Given the description of an element on the screen output the (x, y) to click on. 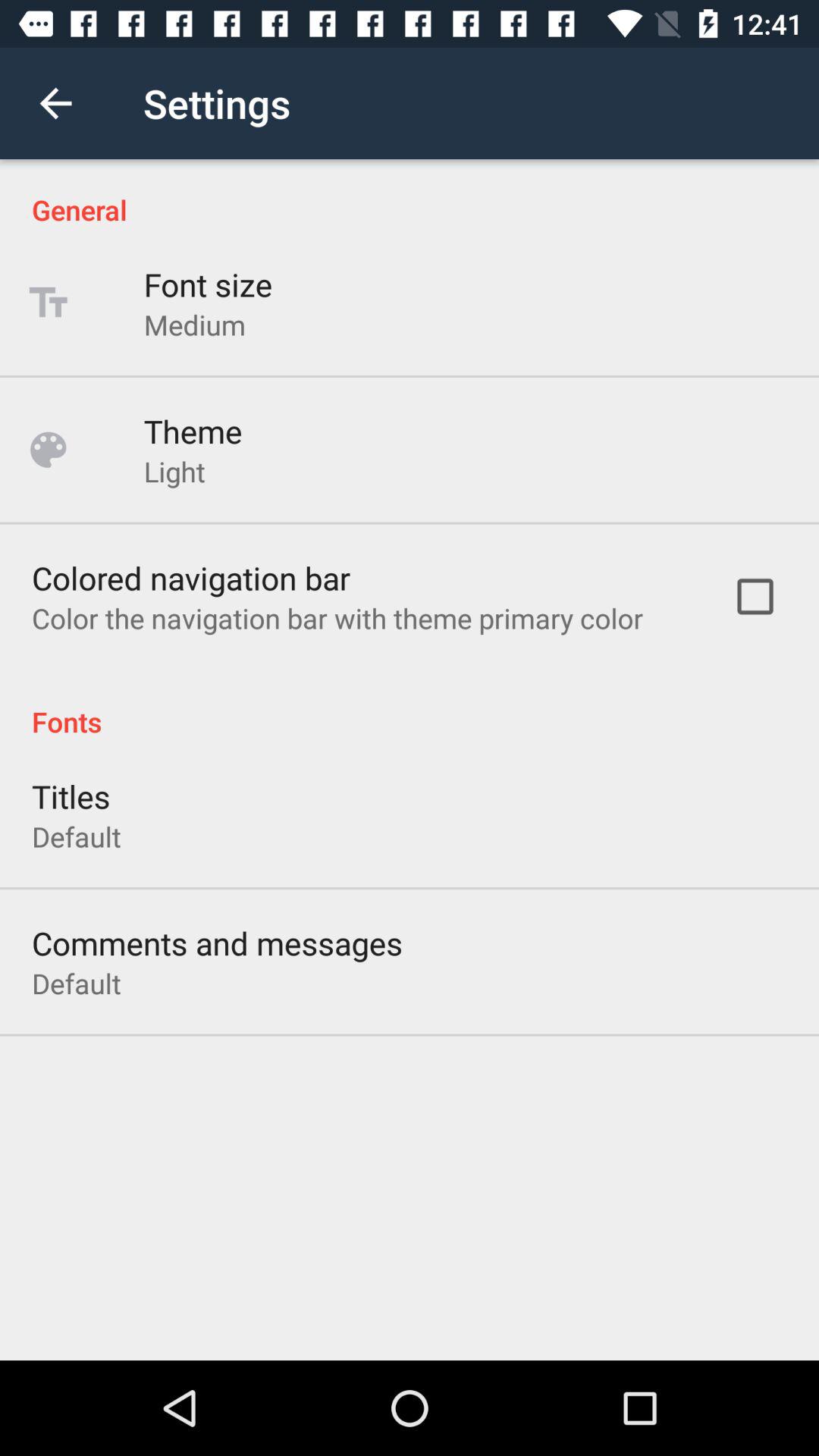
swipe to the comments and messages (216, 942)
